Given the description of an element on the screen output the (x, y) to click on. 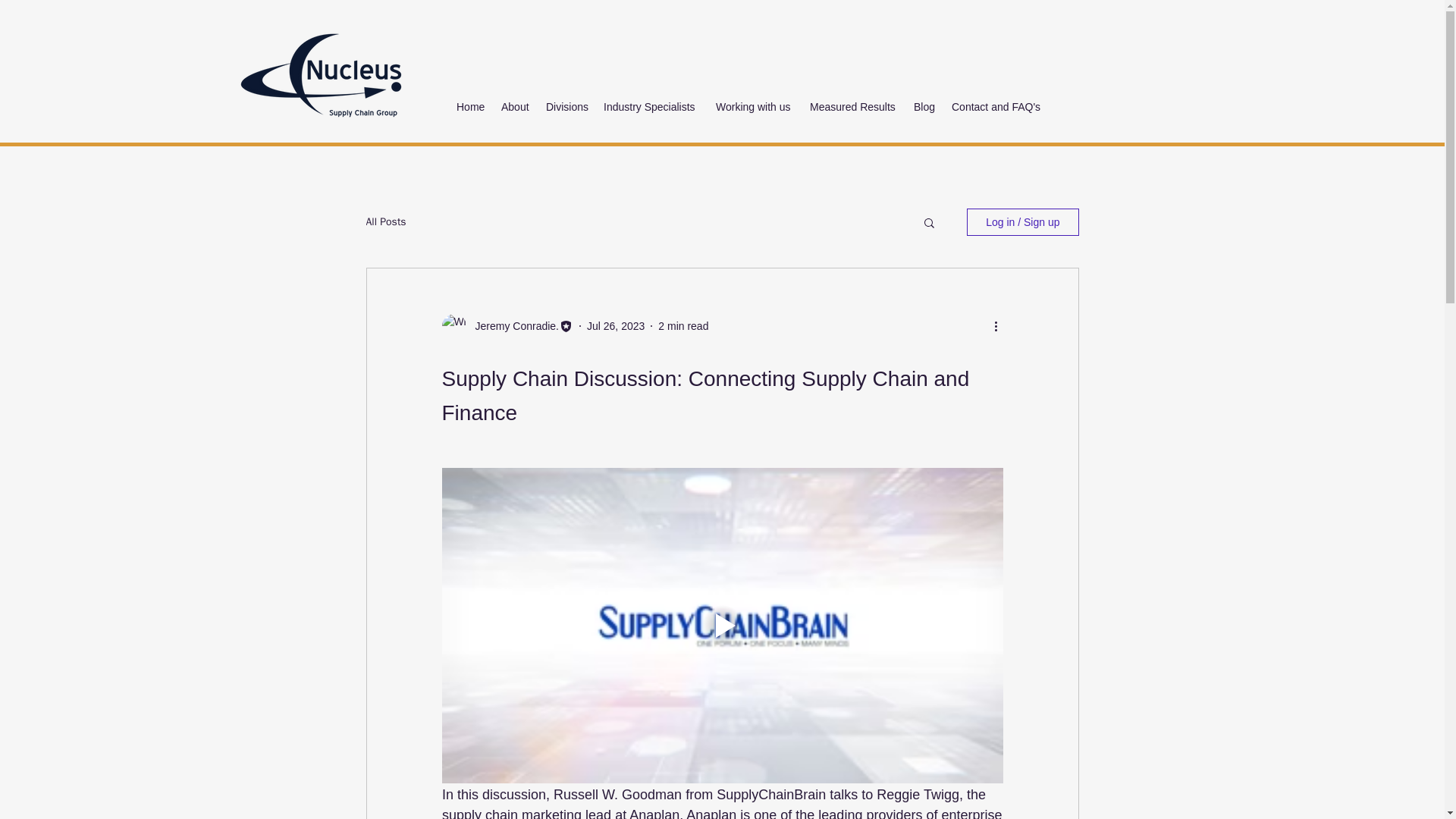
All Posts (385, 222)
Contact and FAQ's (997, 106)
About (515, 106)
Jul 26, 2023 (615, 326)
Industry Specialists (651, 106)
2 min read (682, 326)
Home (470, 106)
Blog (924, 106)
Measured Results (853, 106)
Jeremy Conradie. (512, 326)
